Given the description of an element on the screen output the (x, y) to click on. 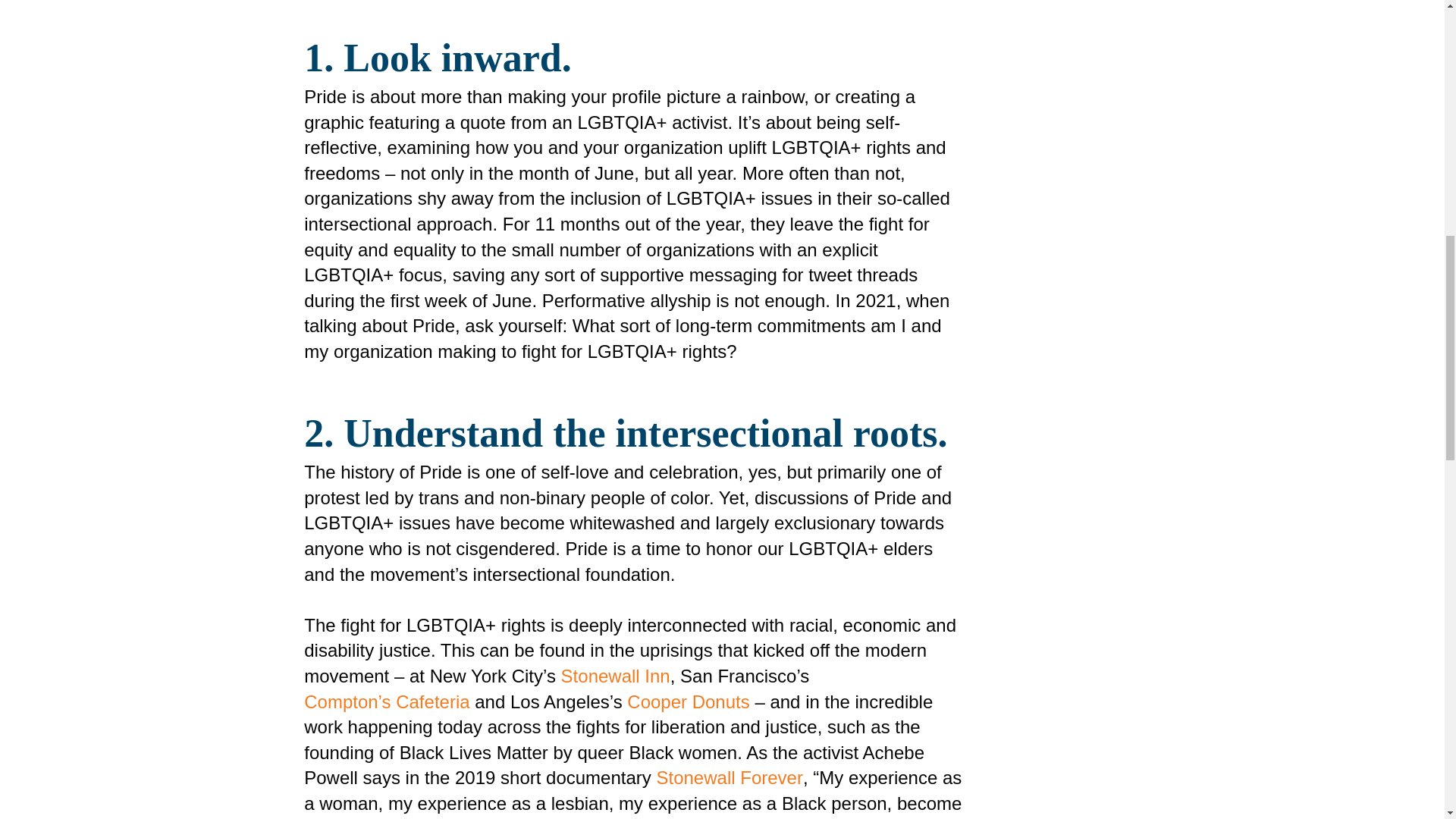
Share to Facebook (1031, 7)
Share to Email (1101, 7)
Share to Linkedin (1066, 7)
